Given the description of an element on the screen output the (x, y) to click on. 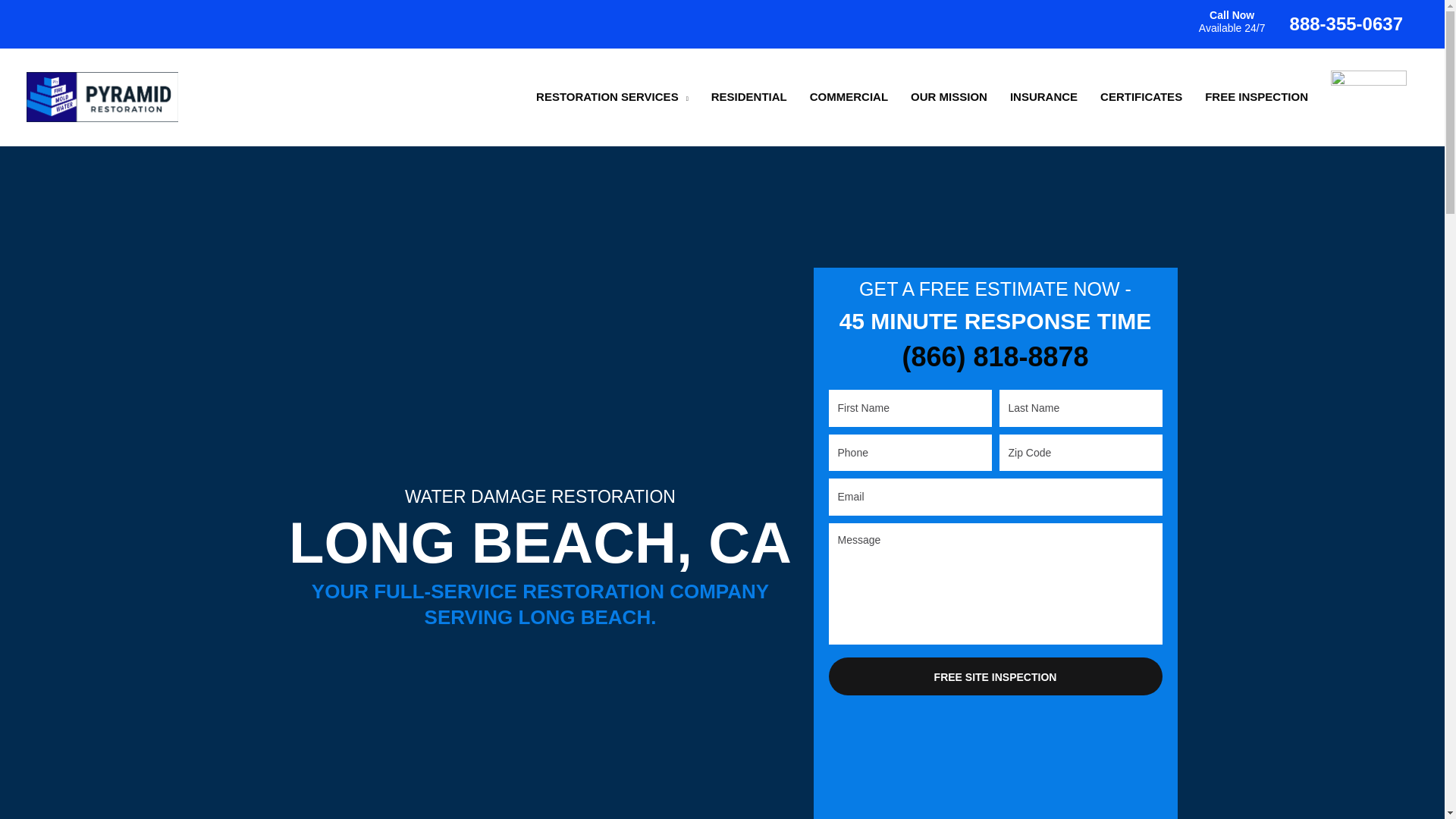
RESIDENTIAL (748, 96)
COMMERCIAL (848, 96)
RESTORATION SERVICES (612, 96)
INSURANCE (1043, 96)
OUR MISSION (948, 96)
FREE INSPECTION (1256, 96)
Free Site Inspection (994, 676)
888-355-0637 (1346, 23)
CERTIFICATES (1141, 96)
Free Site Inspection (994, 676)
